Given the description of an element on the screen output the (x, y) to click on. 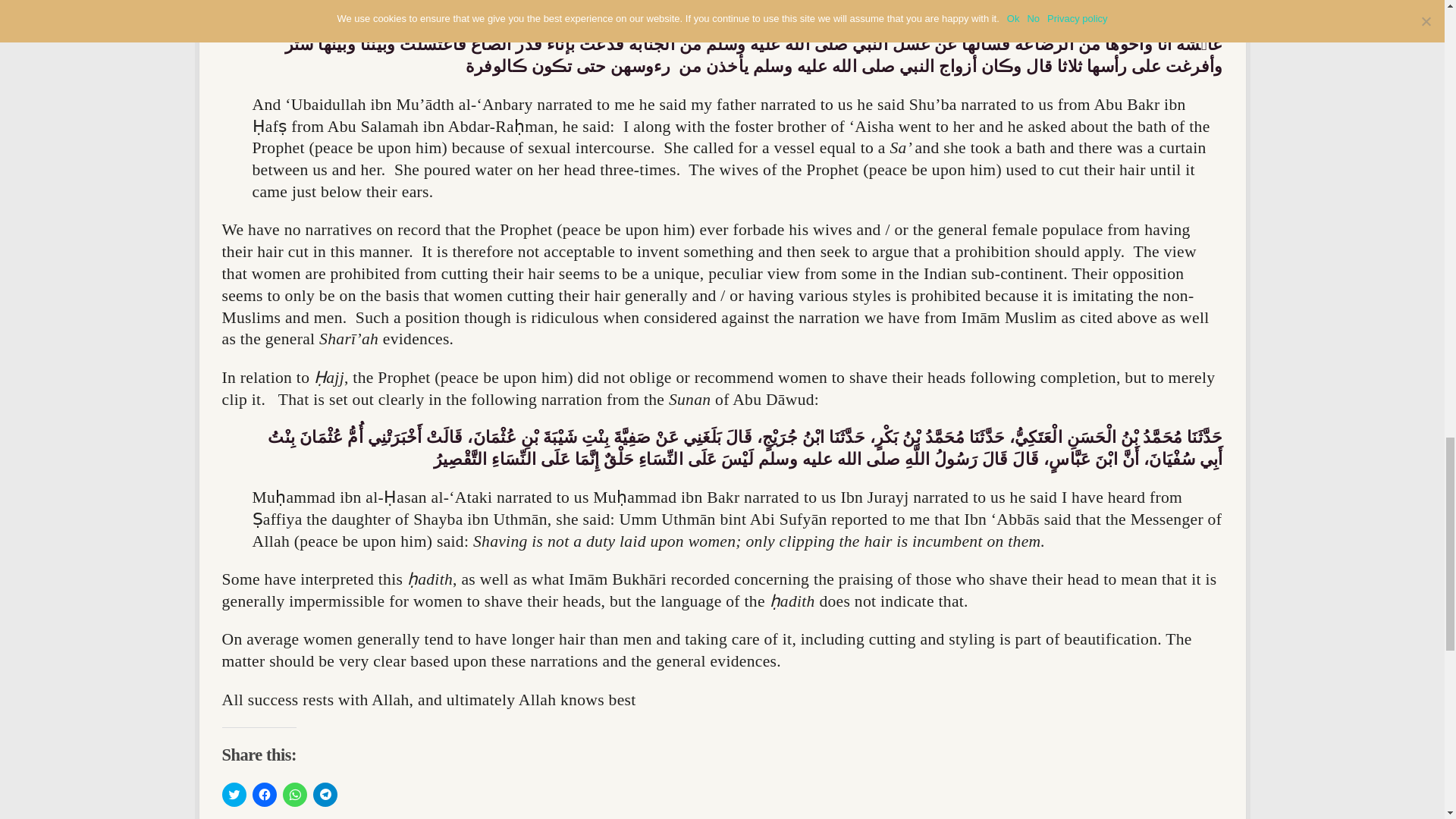
Click to share on Telegram (324, 794)
Click to share on WhatsApp (293, 794)
Click to share on Facebook (263, 794)
Click to share on Twitter (233, 794)
